Given the description of an element on the screen output the (x, y) to click on. 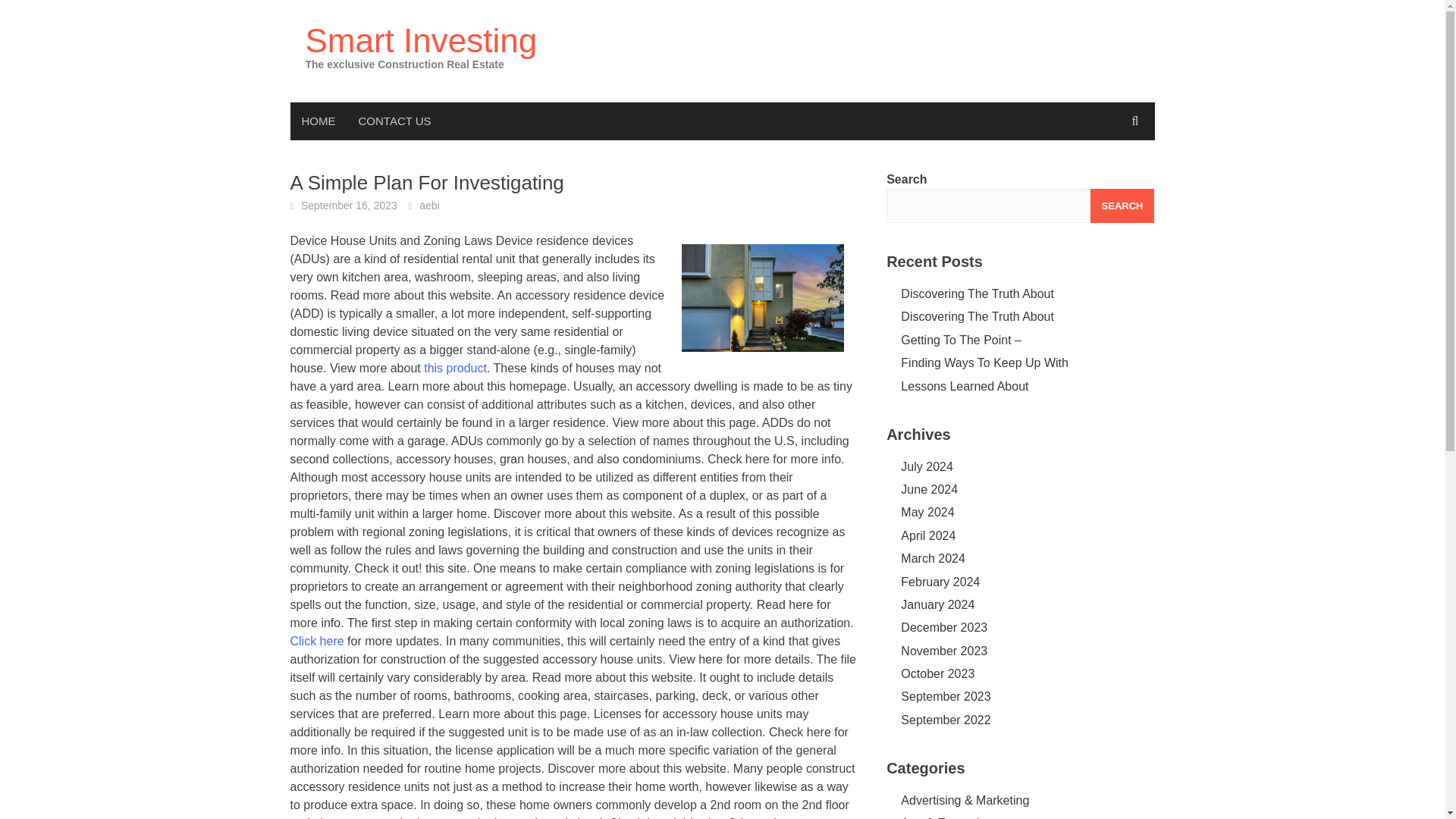
September 16, 2023 (349, 205)
May 2024 (927, 512)
September 2023 (945, 696)
December 2023 (944, 626)
Lessons Learned About (964, 386)
Click here (316, 640)
September 2022 (945, 719)
aebi (429, 205)
CONTACT US (394, 121)
Smart Investing (420, 40)
January 2024 (937, 604)
HOME (317, 121)
November 2023 (944, 650)
October 2023 (937, 673)
April 2024 (928, 535)
